Given the description of an element on the screen output the (x, y) to click on. 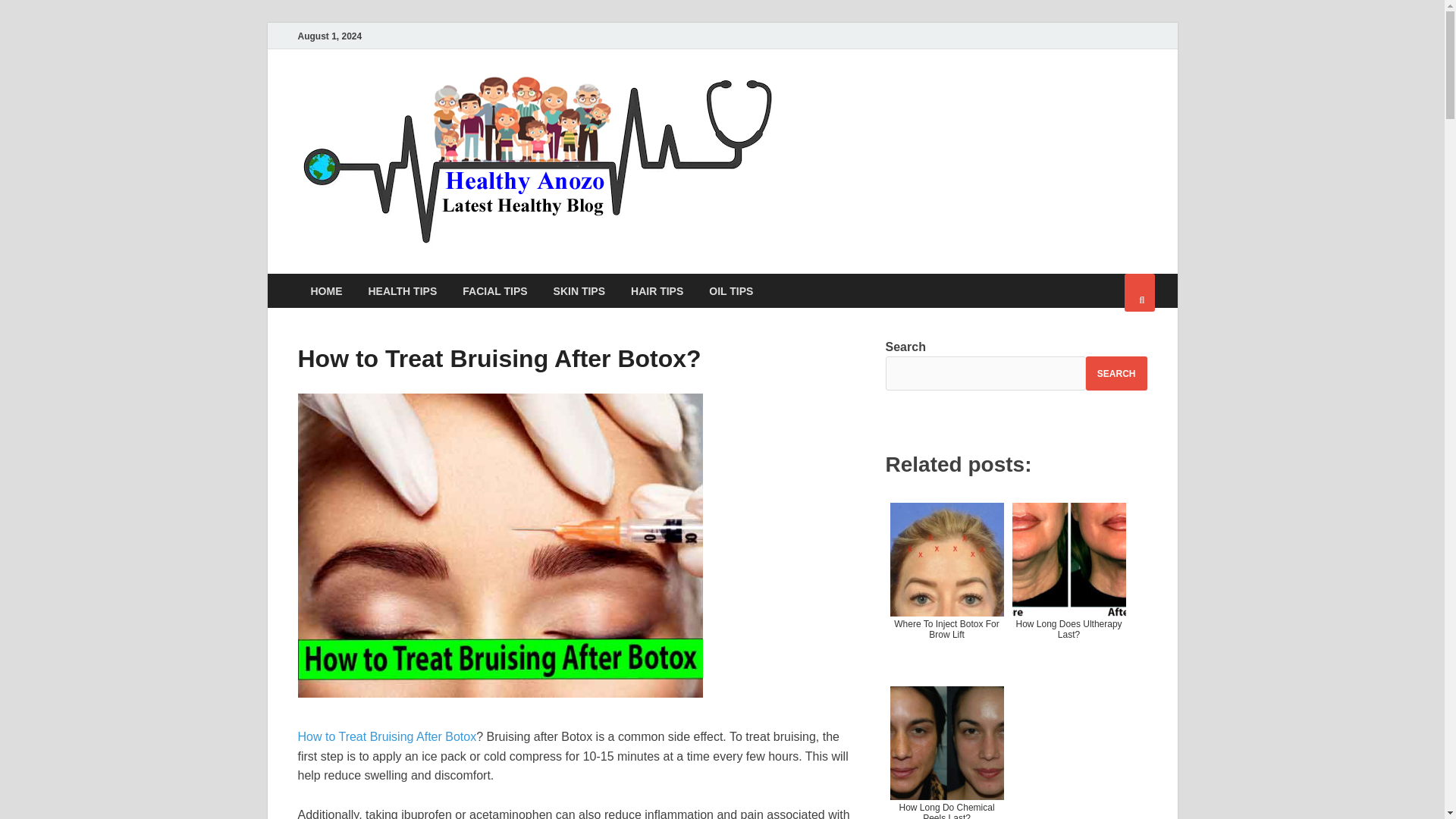
FACIAL TIPS (494, 290)
Healthy Anozo (881, 100)
HAIR TIPS (656, 290)
SKIN TIPS (578, 290)
HEALTH TIPS (402, 290)
How to Treat Bruising After Botox (386, 736)
OIL TIPS (730, 290)
HOME (326, 290)
